Given the description of an element on the screen output the (x, y) to click on. 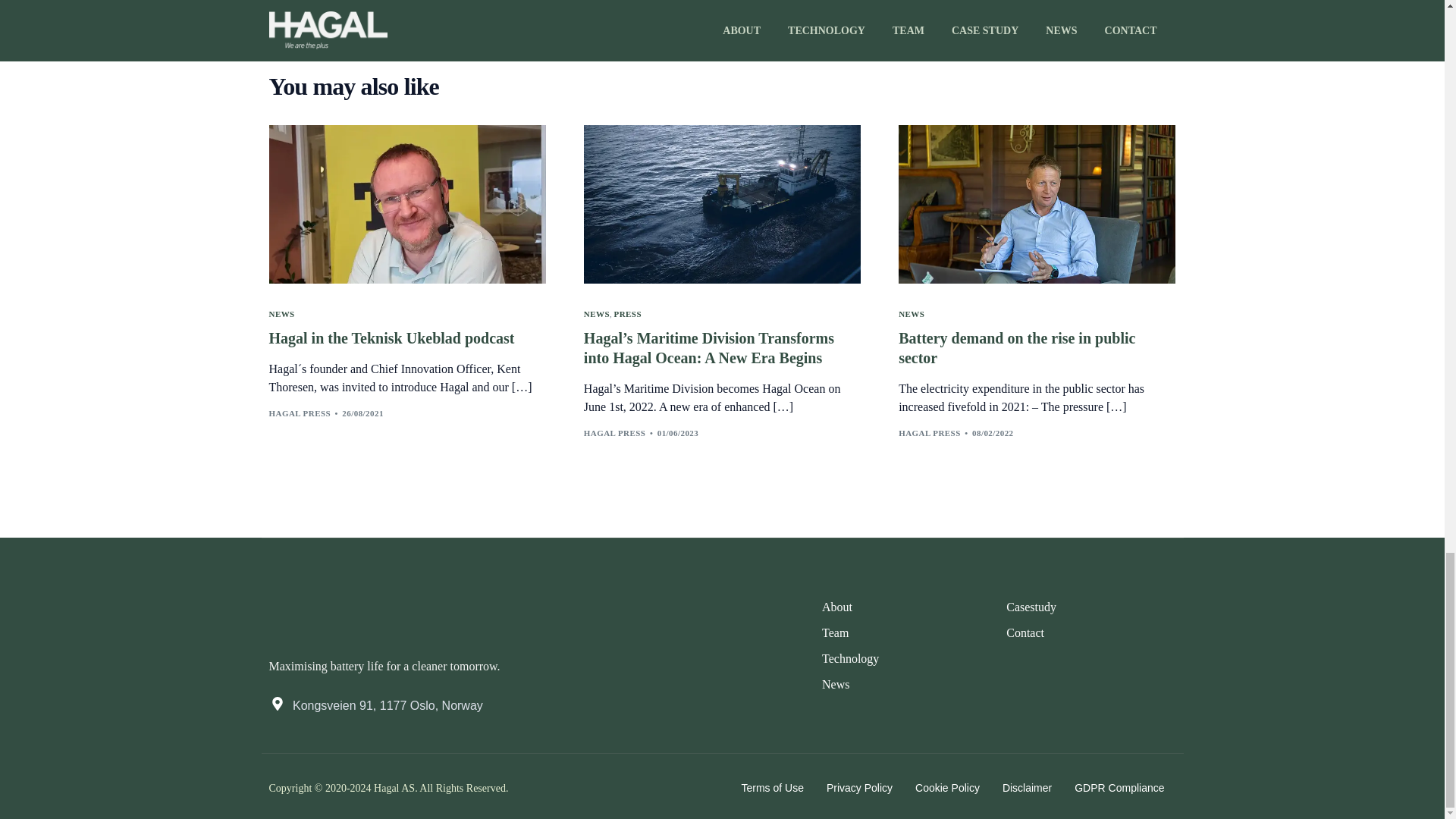
View Post: Battery demand on the rise in public sector  (1036, 347)
HAGAL PRESS (929, 432)
View Press posts (628, 314)
About (850, 606)
NEWS (911, 314)
PRESS (628, 314)
NEWS (280, 314)
Technology (850, 658)
Disclaimer (1026, 788)
Team (850, 632)
View Post: Hagal in the Teknisk Ukeblad podcast  (405, 338)
 View Post: Hagal in the Teknisk Ukeblad podcast (405, 203)
Contact (1031, 632)
